Given the description of an element on the screen output the (x, y) to click on. 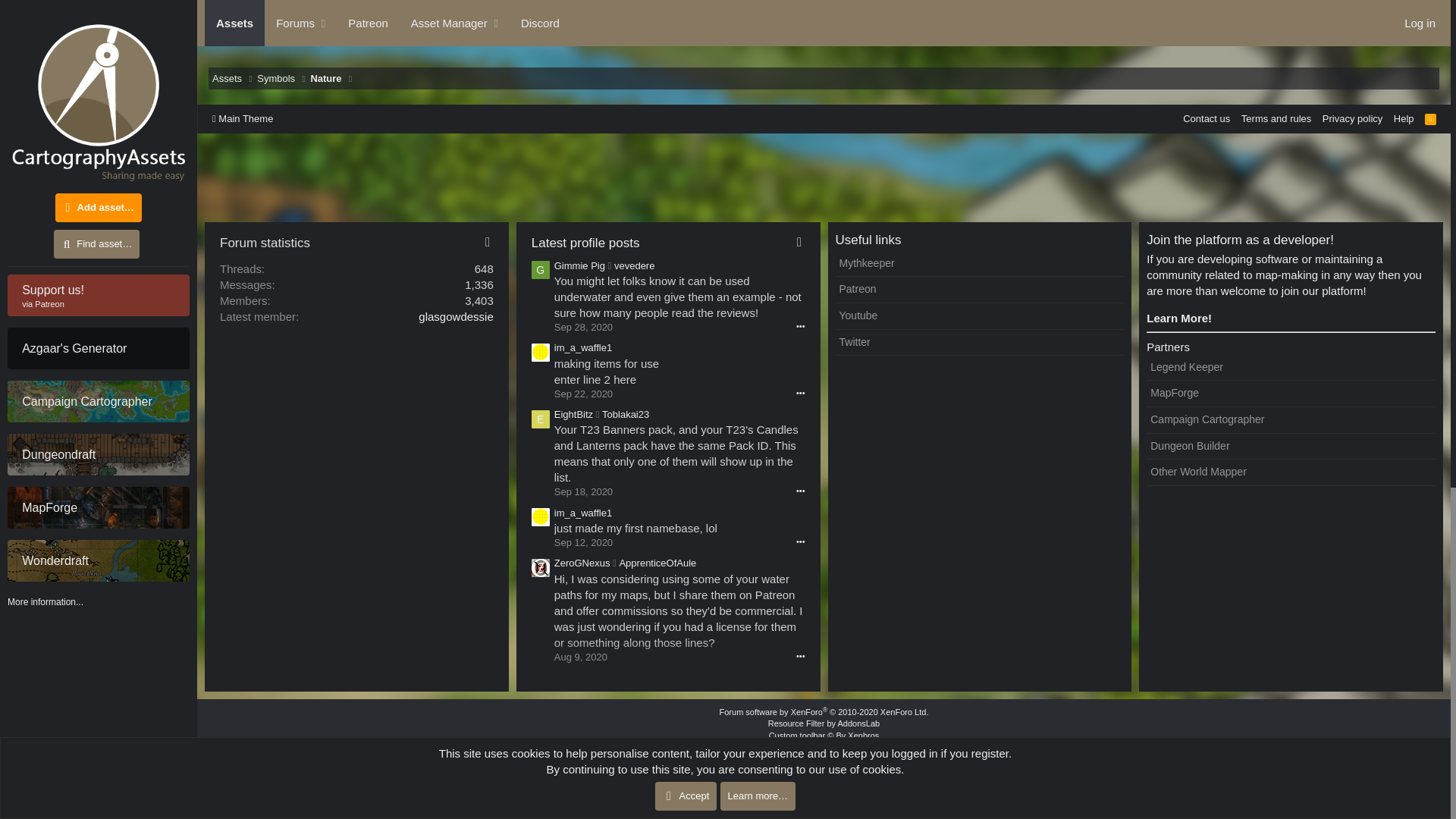
Sep 22, 2020 at 12:51 PM (583, 393)
Sep 28, 2020 at 4:41 PM (583, 326)
RSS (1430, 118)
Sep 12, 2020 at 3:20 AM (583, 542)
Aug 9, 2020 at 10:53 PM (580, 656)
Sep 18, 2020 at 12:33 AM (583, 491)
